Given the description of an element on the screen output the (x, y) to click on. 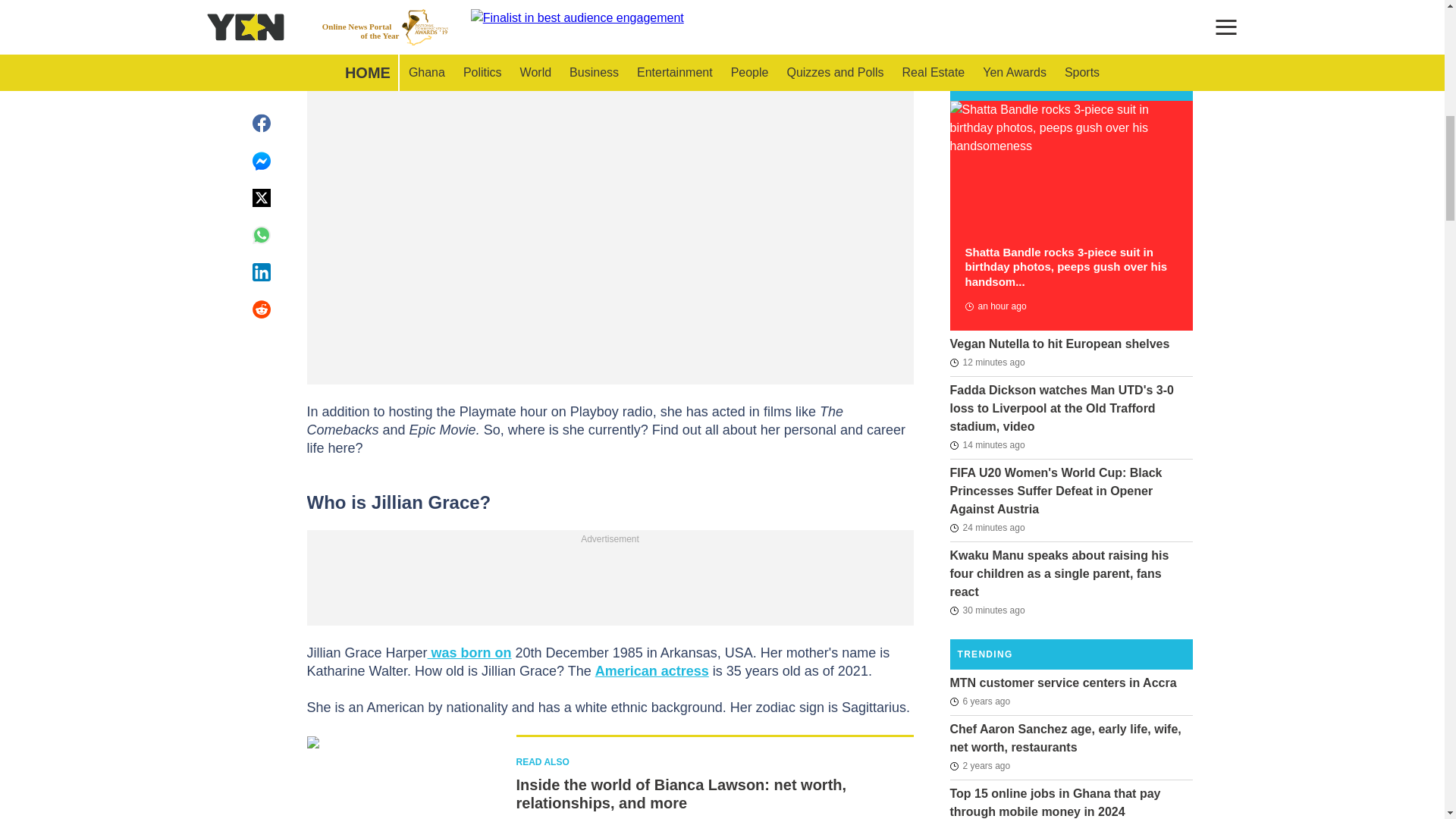
2024-09-03T11:42:39Z (987, 610)
2024-09-03T12:01:03Z (987, 361)
2024-09-03T10:51:52Z (994, 306)
2018-07-09T07:00:09Z (979, 701)
2024-09-03T11:59:13Z (987, 444)
2024-09-03T11:48:37Z (987, 527)
2021-10-28T10:12:27Z (979, 765)
